Given the description of an element on the screen output the (x, y) to click on. 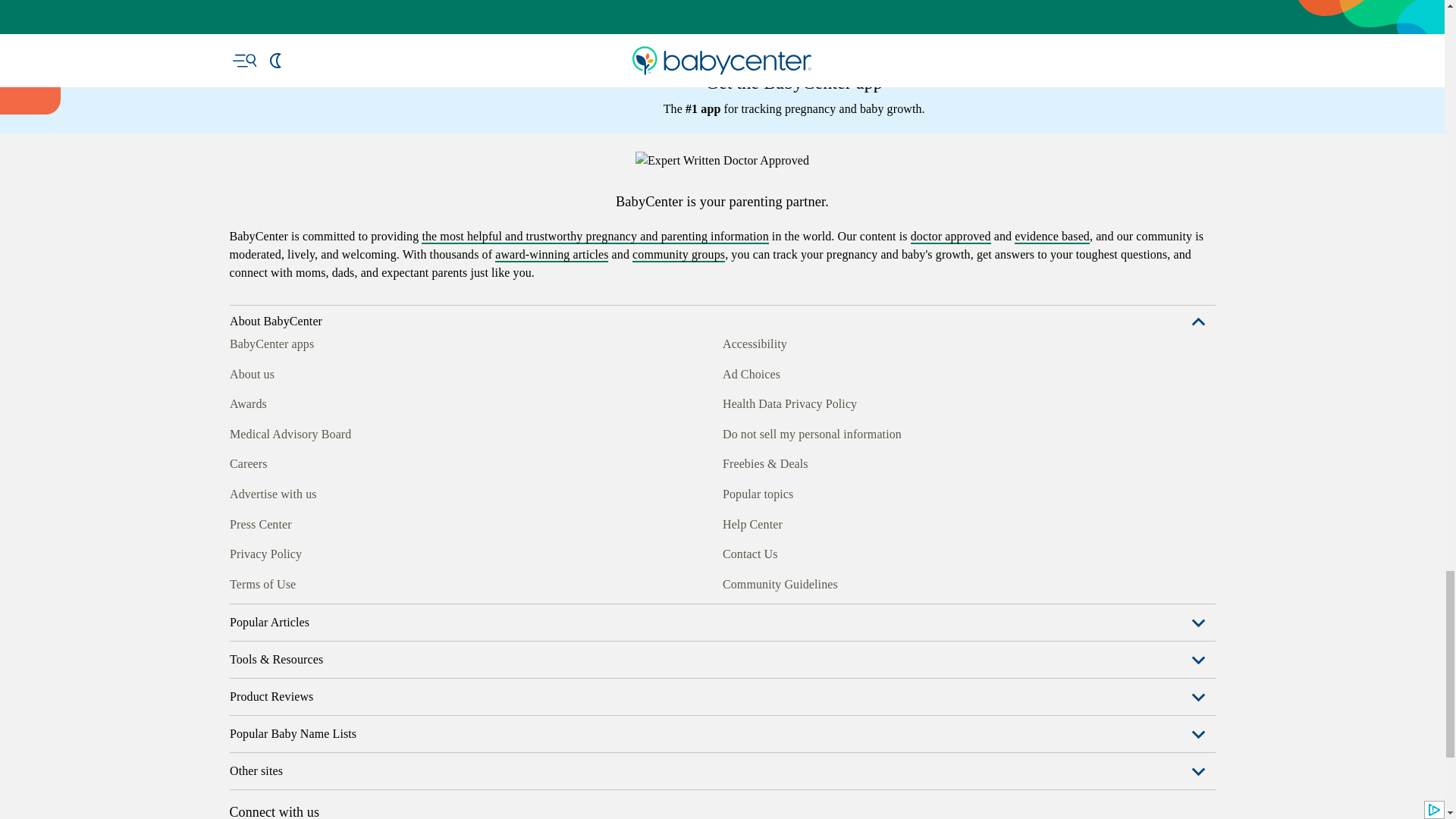
BabyCenter Pinterest board (309, 581)
BabyCenter Instagram feed (274, 581)
BabyCenter Facebook page (239, 581)
BabyCenter YouTube channel (344, 581)
BabyCenter Twitter feed (379, 581)
